Given the description of an element on the screen output the (x, y) to click on. 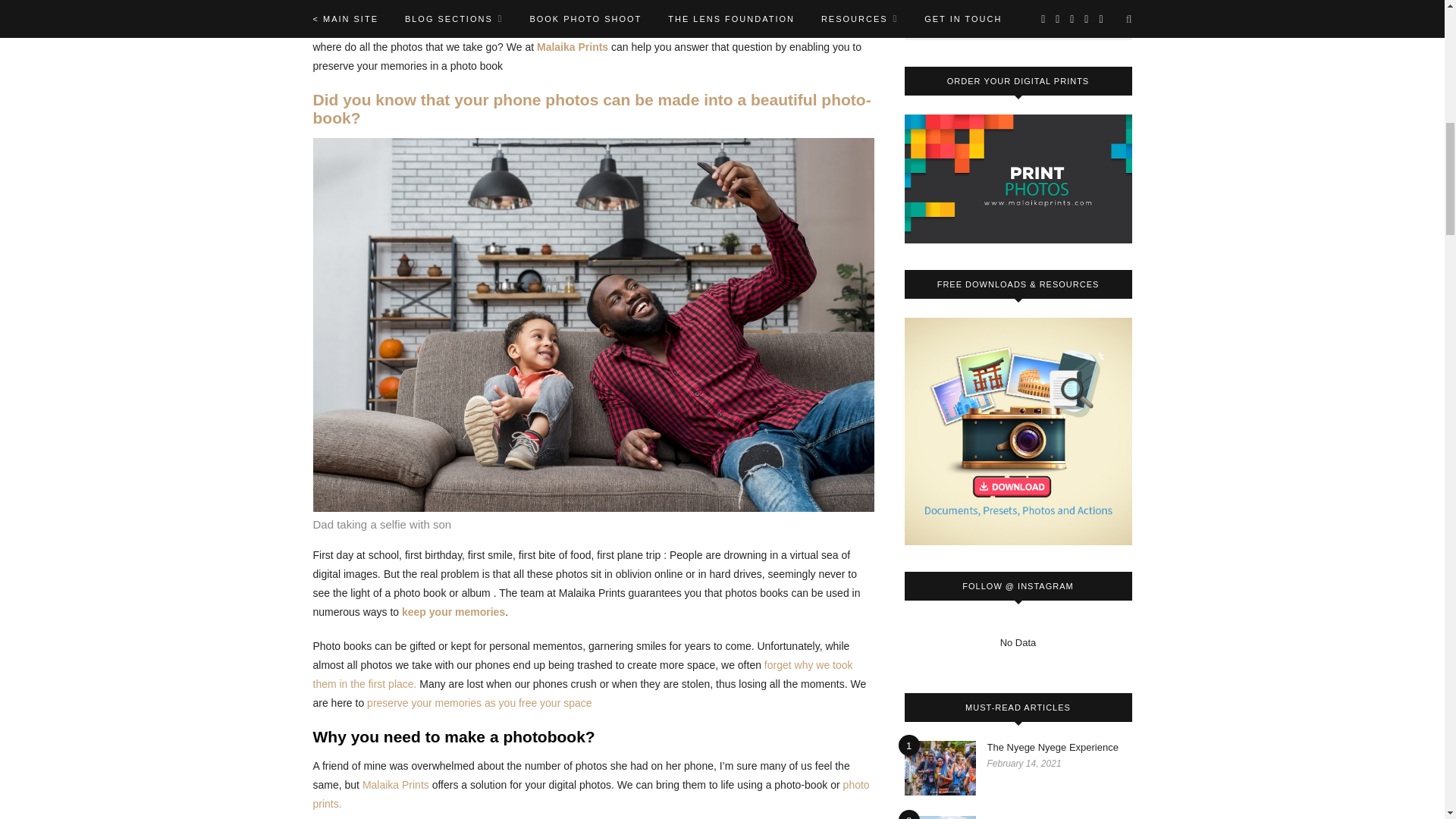
Subscribe (1017, 11)
